Given the description of an element on the screen output the (x, y) to click on. 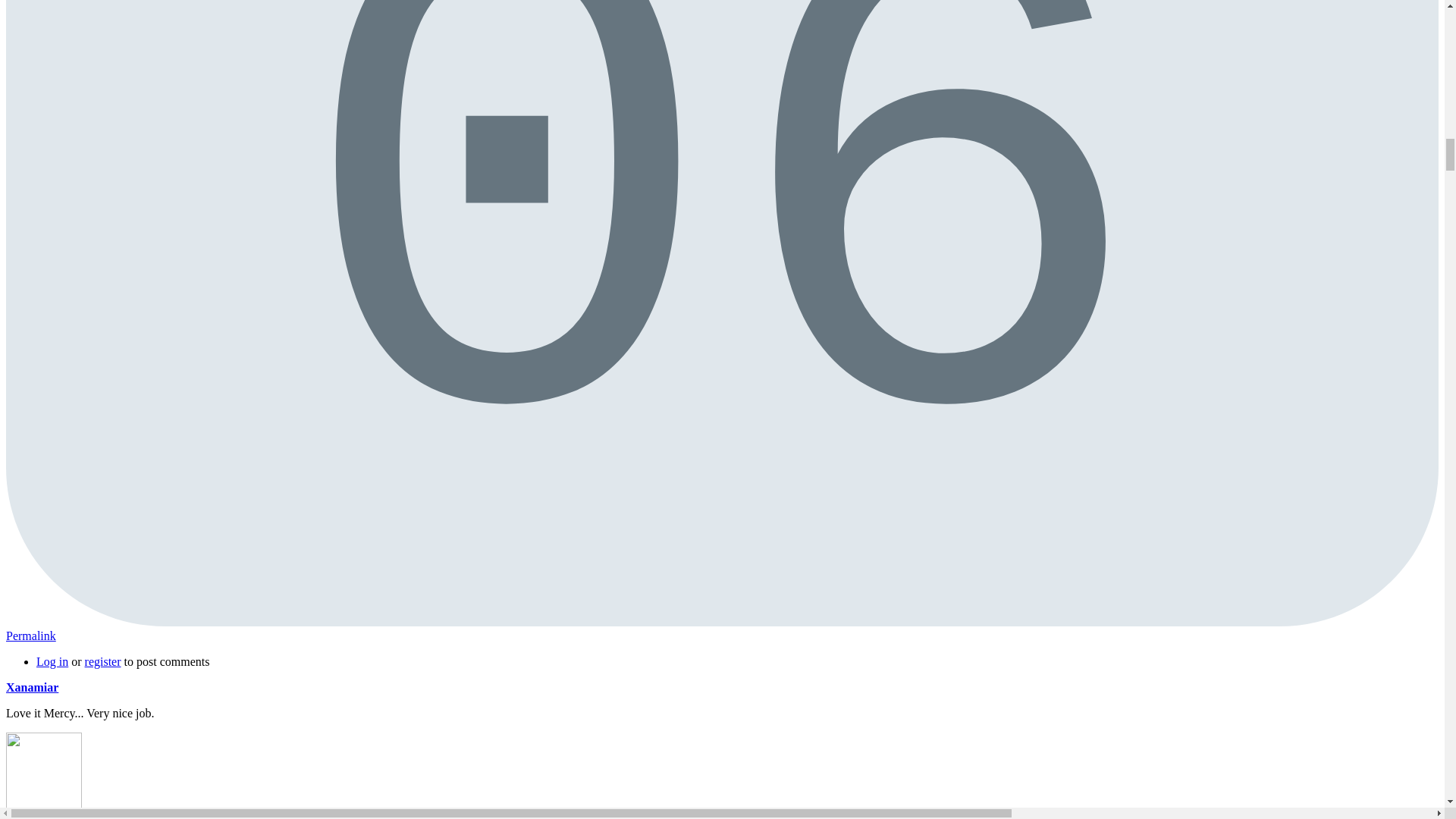
Log in (52, 661)
View user profile. (30, 635)
Xanamiar (31, 686)
